Given the description of an element on the screen output the (x, y) to click on. 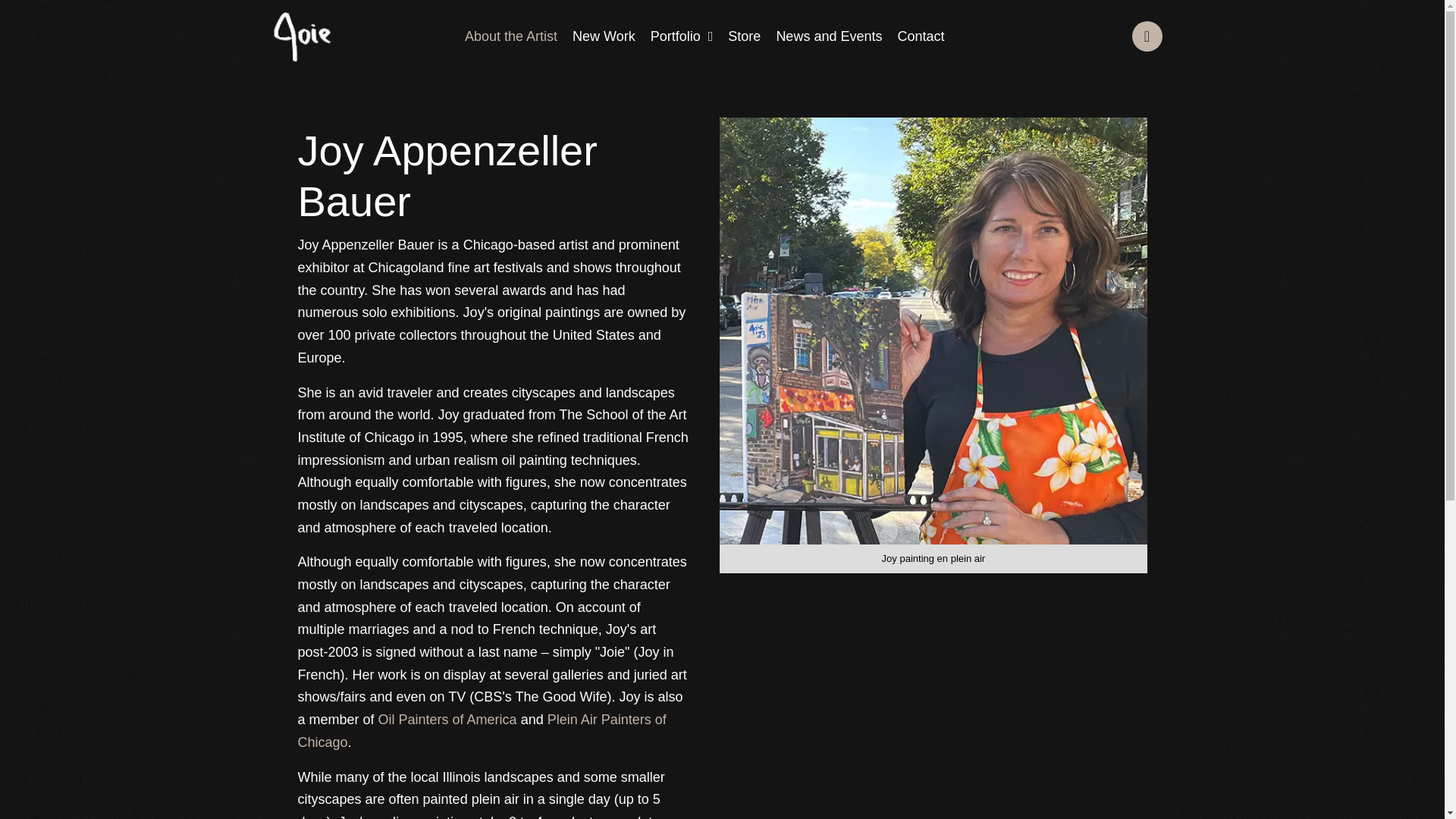
Portfolio (681, 35)
New Work (603, 35)
Contact (920, 35)
Store (744, 35)
Plein Air Painters of Chicago (481, 730)
Oil Painters of America (447, 719)
About the Artist (510, 35)
Joie Logo (302, 36)
News and Events (828, 35)
Instagram (1146, 36)
